Given the description of an element on the screen output the (x, y) to click on. 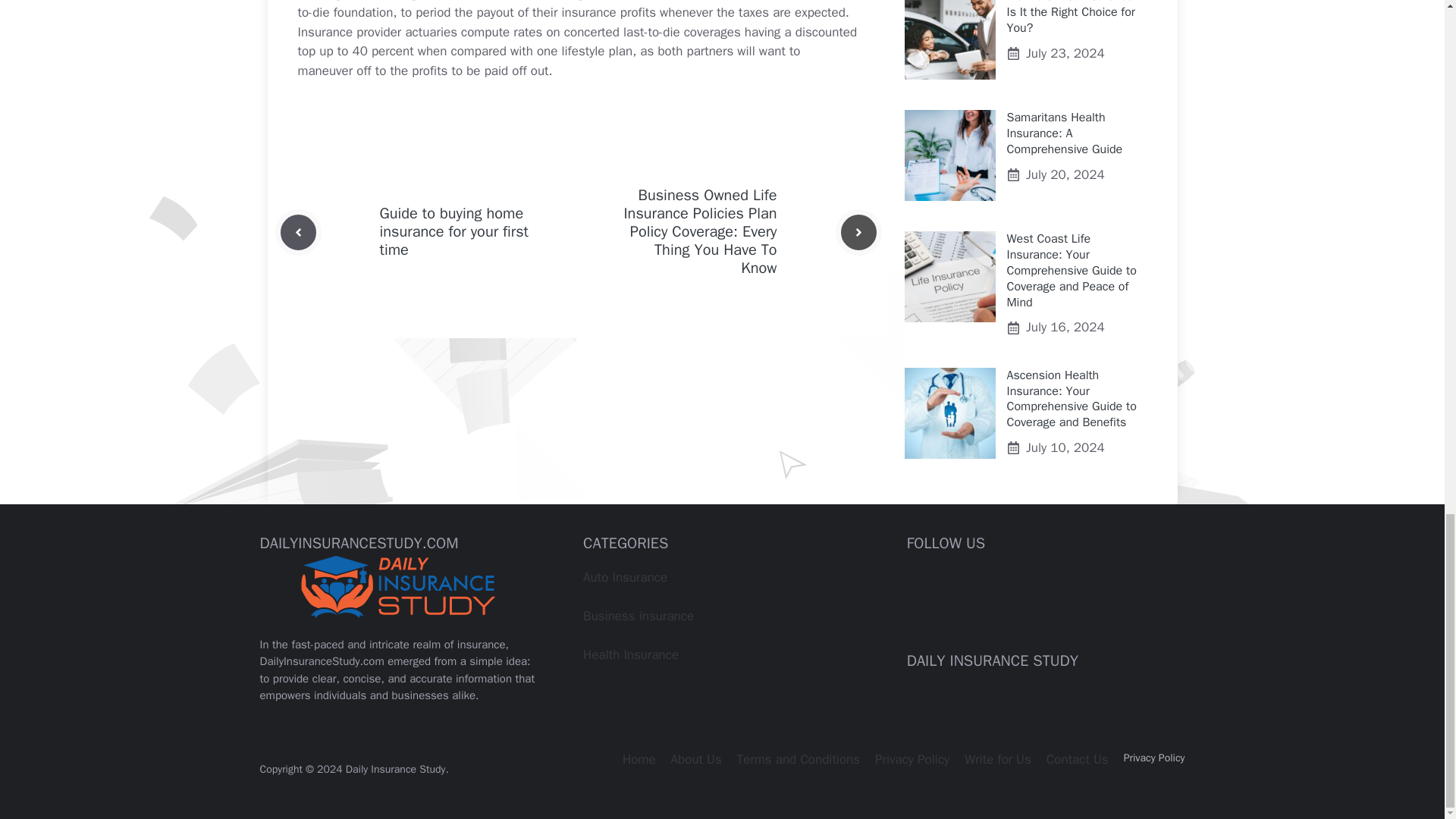
Contact Us (1077, 759)
Walmart Auto Insurance: Is It the Right Choice for You? (1072, 18)
Write for Us (996, 759)
Samaritans Health Insurance: A Comprehensive Guide (1064, 133)
Guide to buying home insurance for your first time (453, 231)
Auto Insurance (624, 577)
Privacy Policy (1154, 757)
Home (639, 759)
About Us (696, 759)
Health Insurance (630, 654)
Privacy Policy (912, 759)
Business insurance (638, 616)
Terms and Conditions (798, 759)
